Given the description of an element on the screen output the (x, y) to click on. 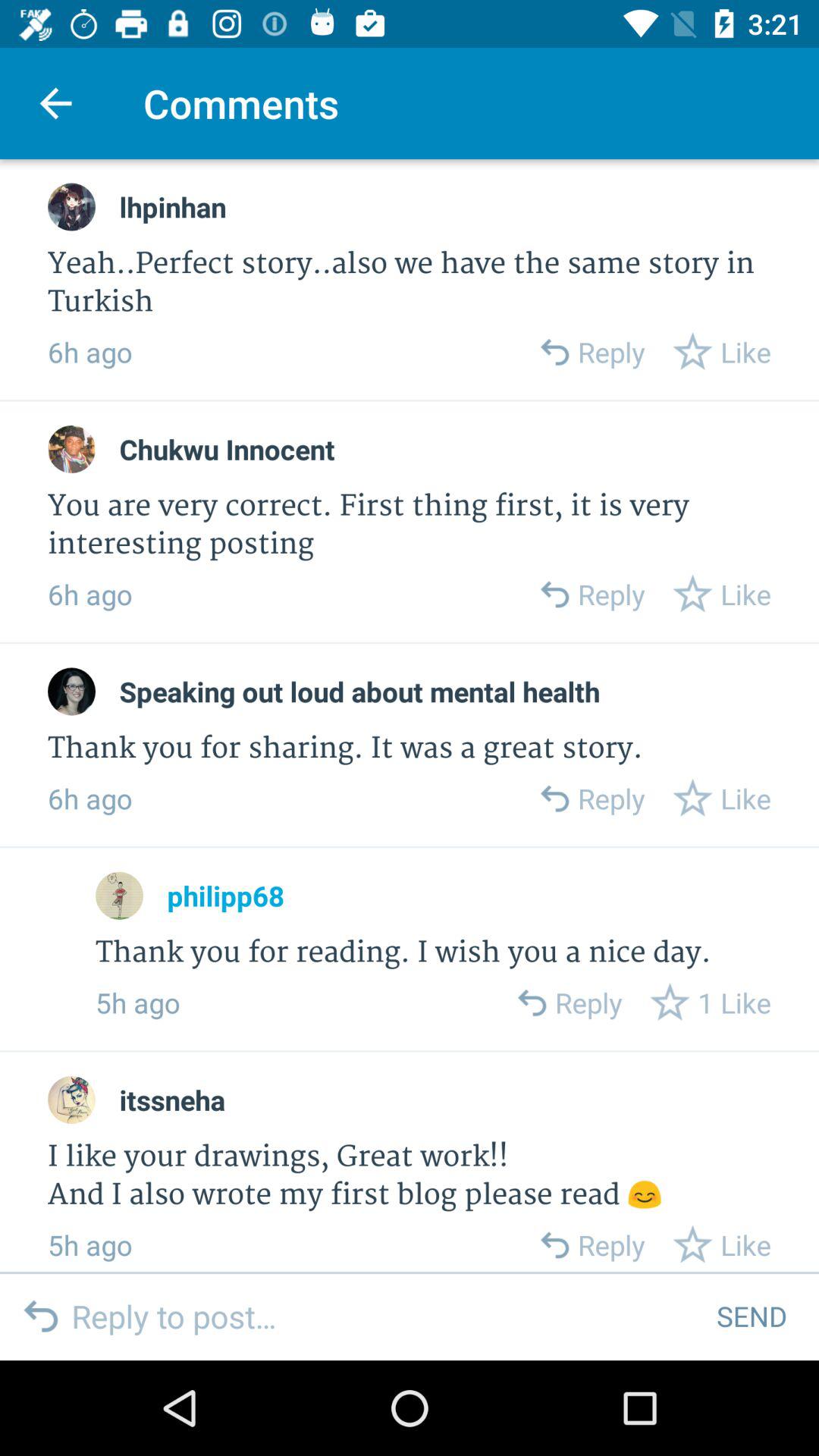
tap icon below thank you for (225, 895)
